Given the description of an element on the screen output the (x, y) to click on. 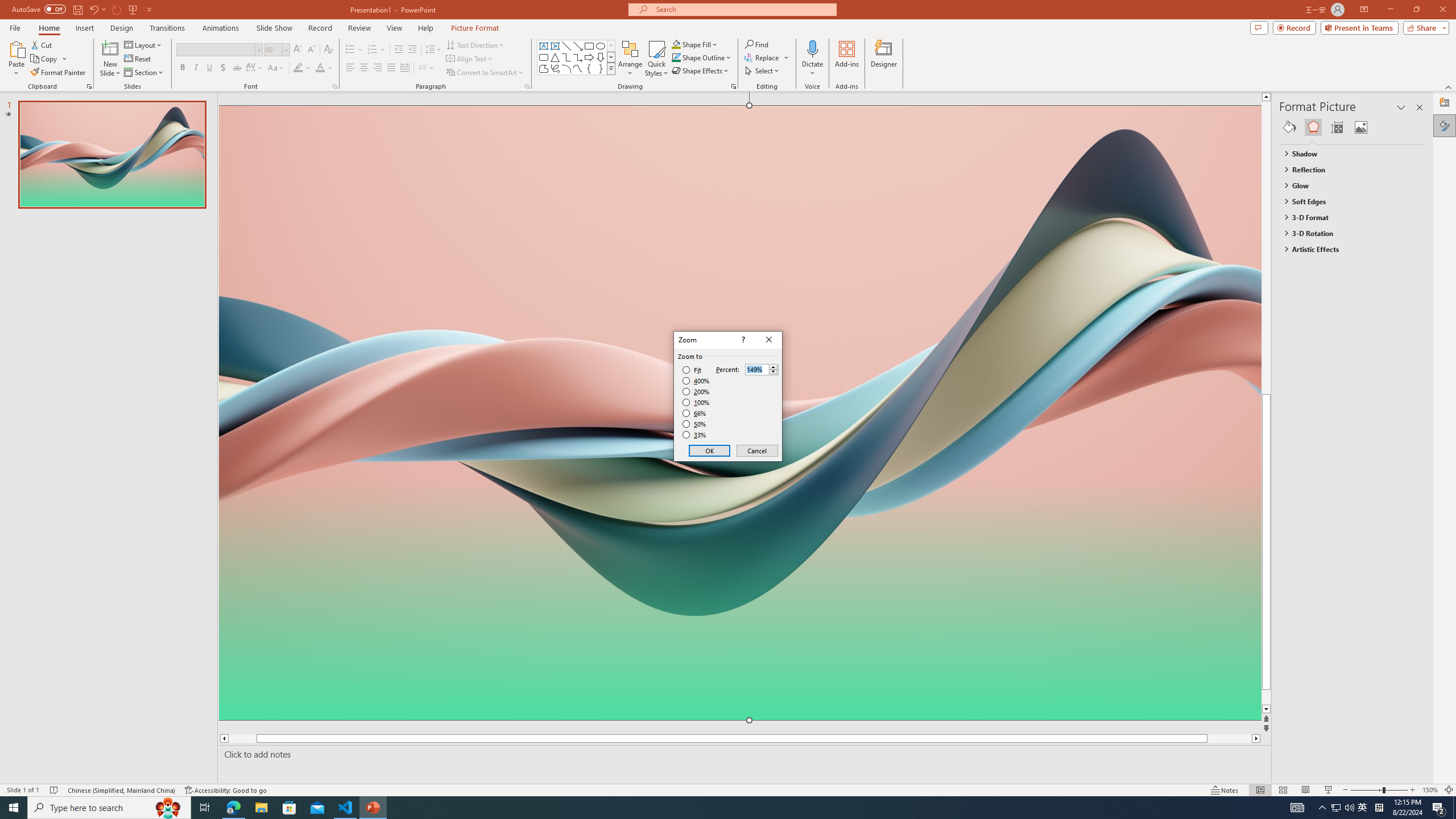
Artistic Effects (1347, 248)
400% (696, 380)
3-D Format (1347, 217)
